Given the description of an element on the screen output the (x, y) to click on. 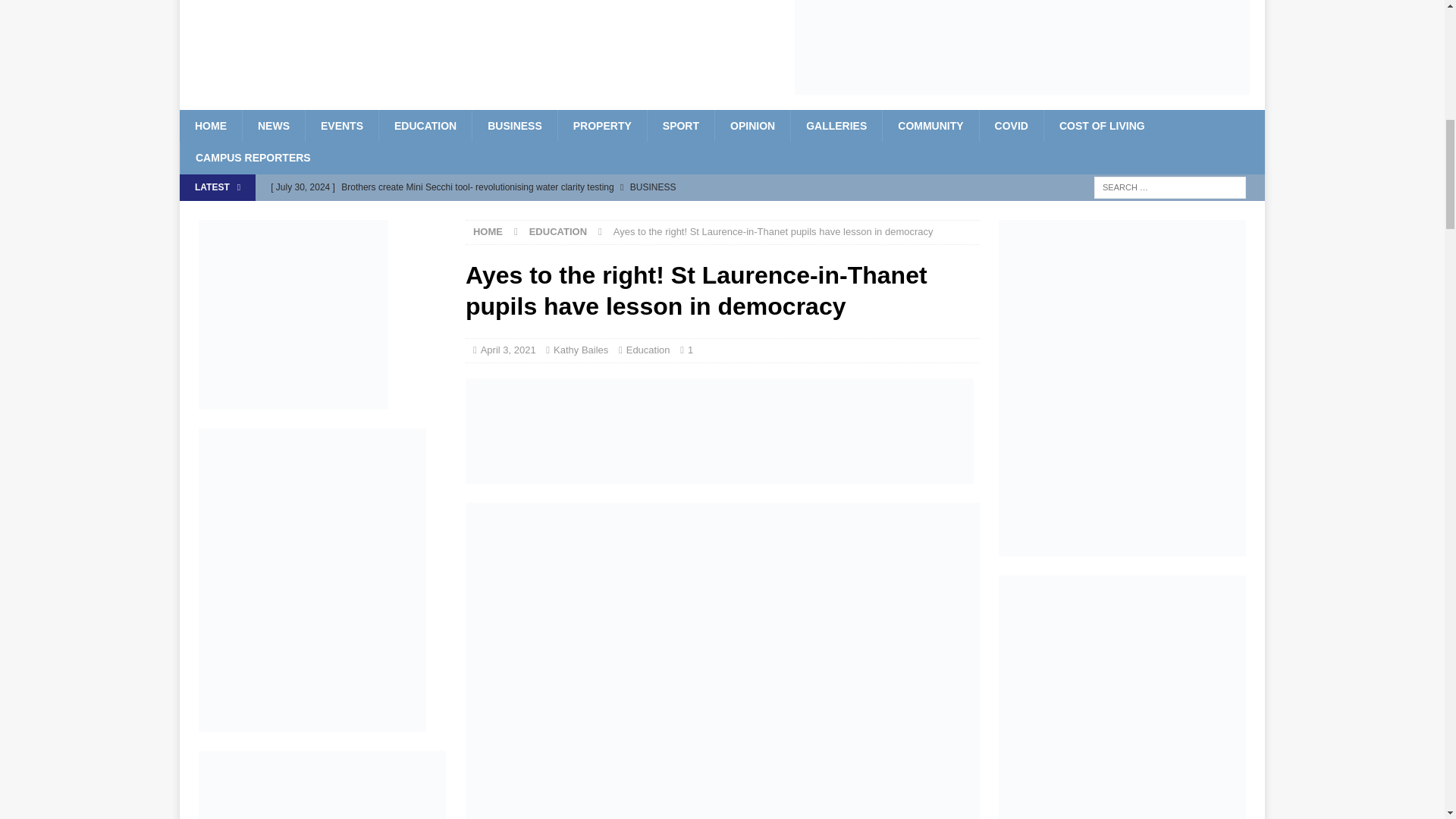
NEWS (272, 125)
SPORT (680, 125)
GALLERIES (836, 125)
HOME (210, 125)
EDUCATION (424, 125)
1 (690, 349)
COMMUNITY (930, 125)
EVENTS (341, 125)
COST OF LIVING (1101, 125)
PROPERTY (601, 125)
COVID (1010, 125)
BUSINESS (514, 125)
CAMPUS REPORTERS (252, 157)
OPINION (752, 125)
